Given the description of an element on the screen output the (x, y) to click on. 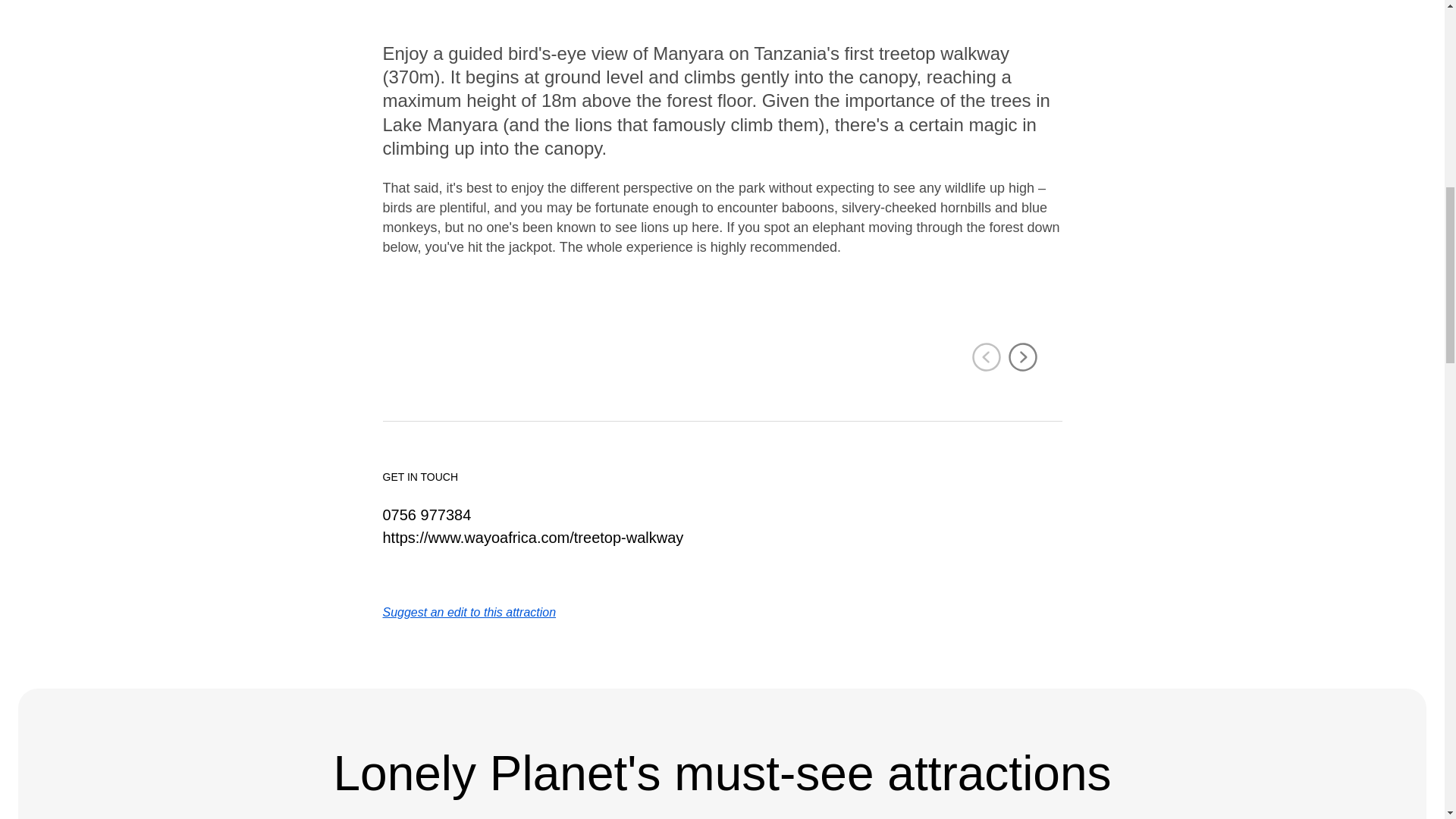
Suggest an edit to this attraction (468, 612)
0756 977384 (425, 514)
